Given the description of an element on the screen output the (x, y) to click on. 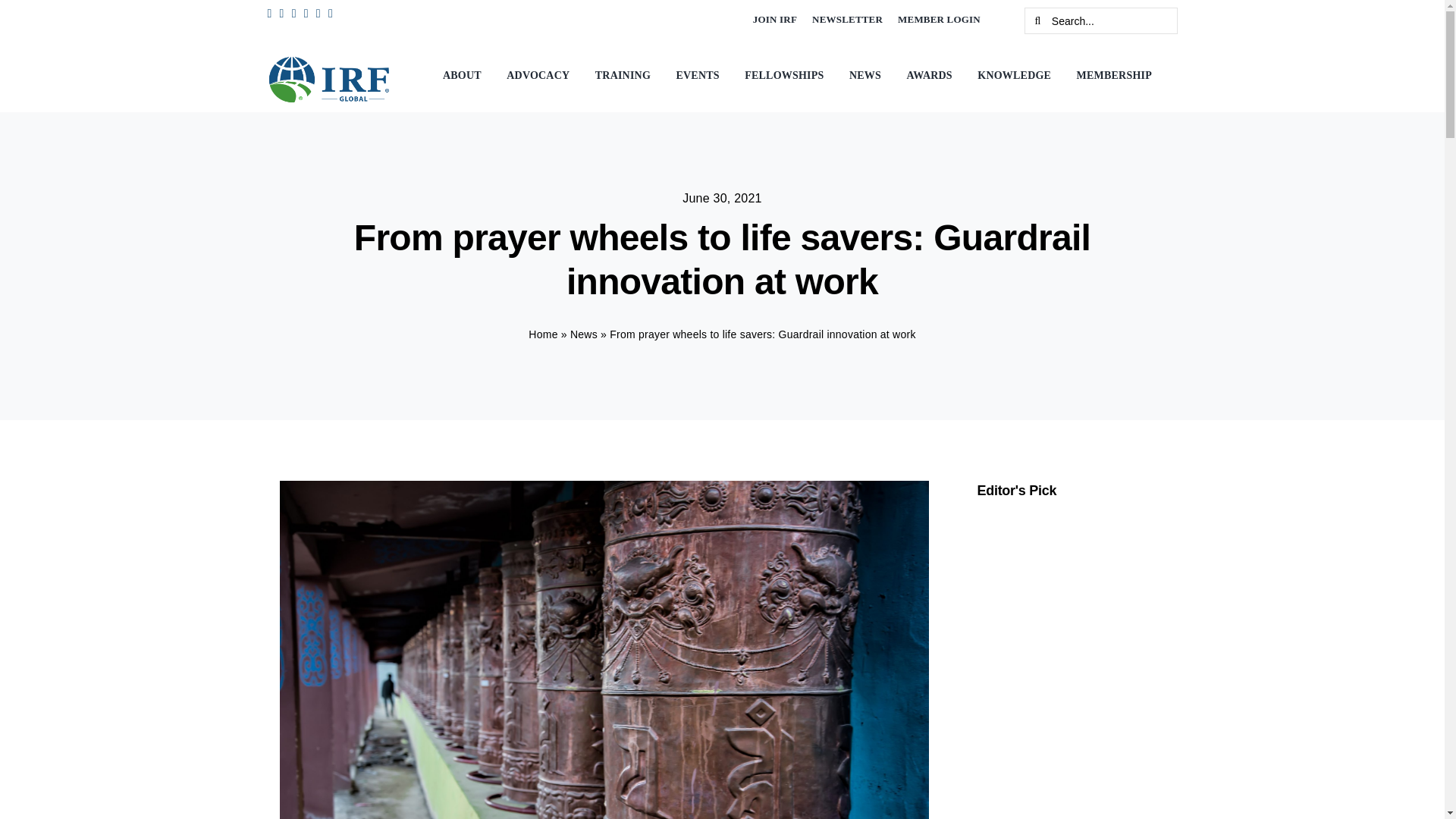
JOIN IRF (775, 19)
ABOUT (465, 75)
MEMBER LOGIN (938, 19)
NEWSLETTER (847, 19)
ADVOCACY (541, 75)
TRAINING (626, 75)
